Given the description of an element on the screen output the (x, y) to click on. 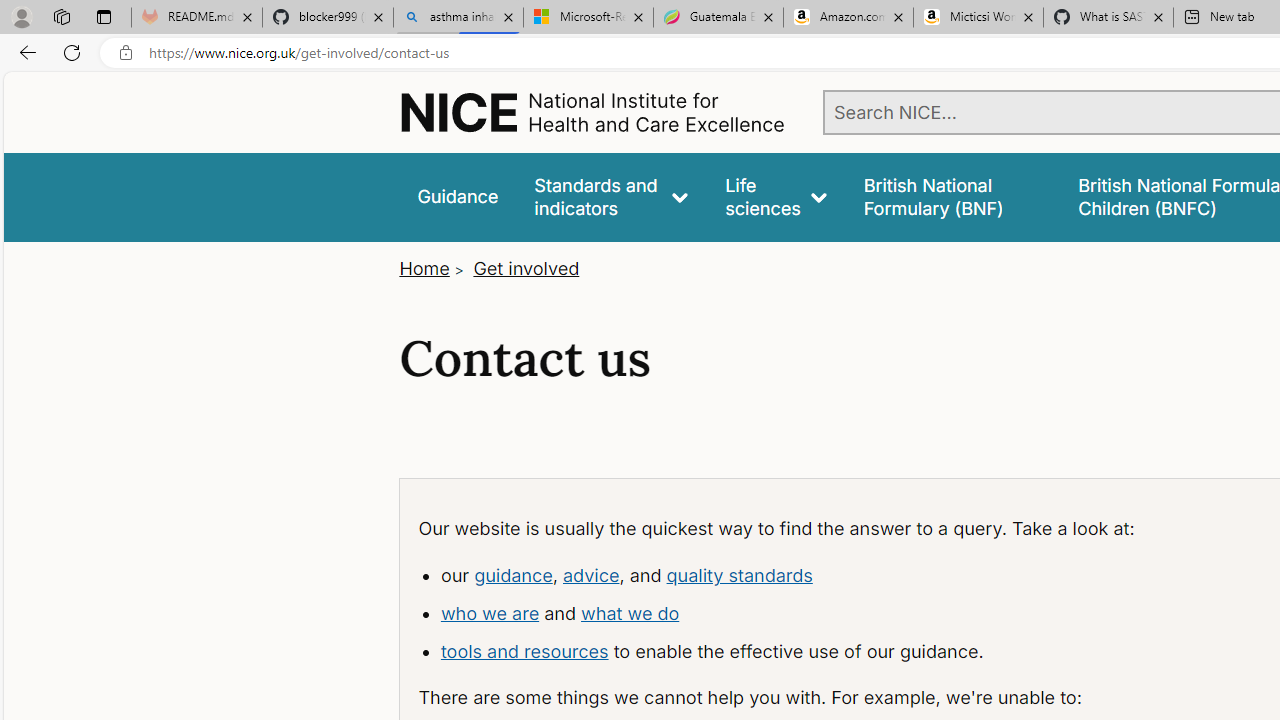
our guidance, advice, and quality standards (798, 575)
advice (591, 574)
Get involved (526, 268)
tools and resources (524, 650)
